Given the description of an element on the screen output the (x, y) to click on. 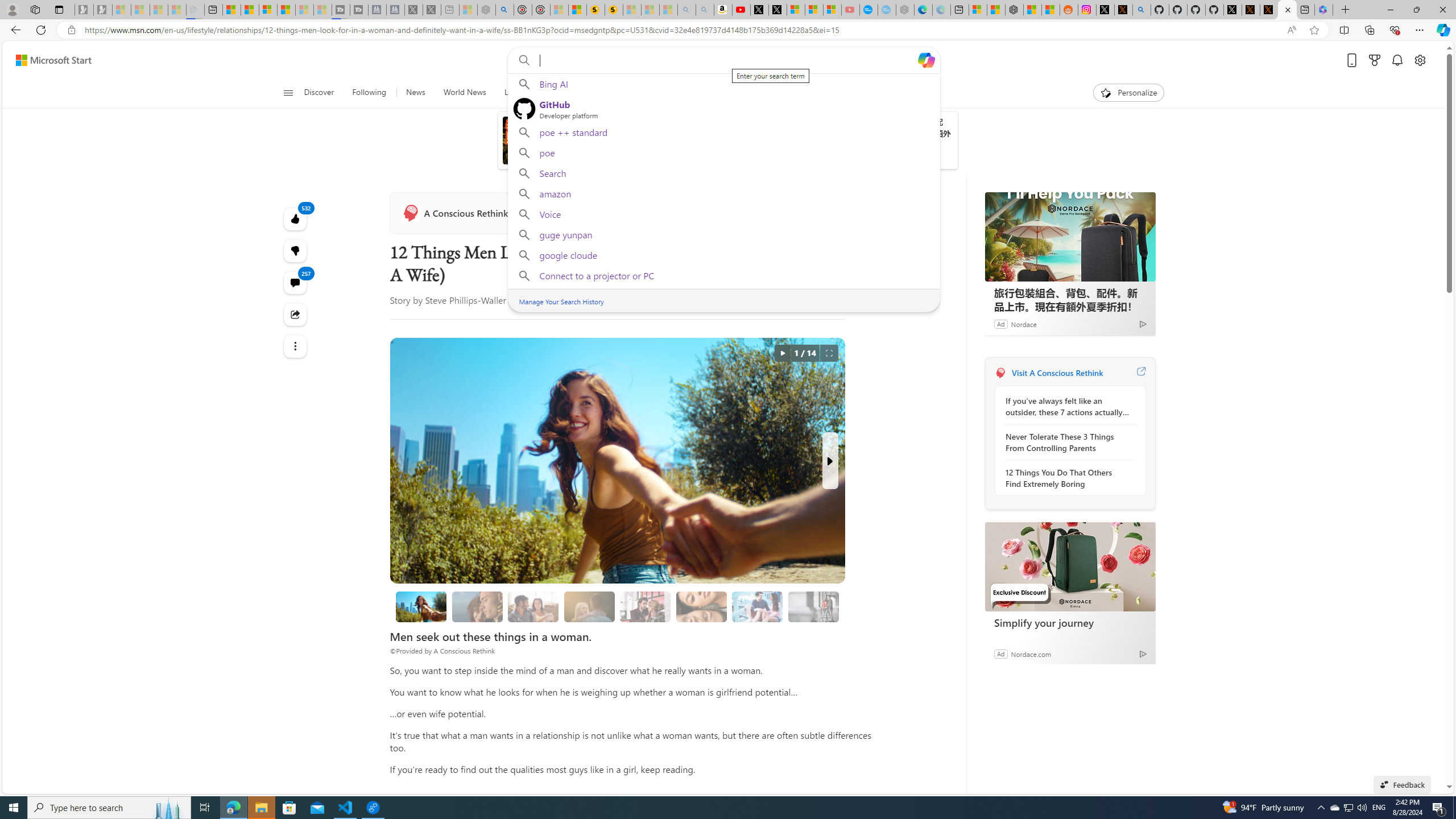
Entertainment (749, 92)
Nordace - Summer Adventures 2024 - Sleeping (486, 9)
Local (513, 92)
Simplify your journey (1070, 566)
1. She is compassionate. (477, 606)
Crime (653, 92)
Visit A Conscious Rethink website (1140, 372)
